Given the description of an element on the screen output the (x, y) to click on. 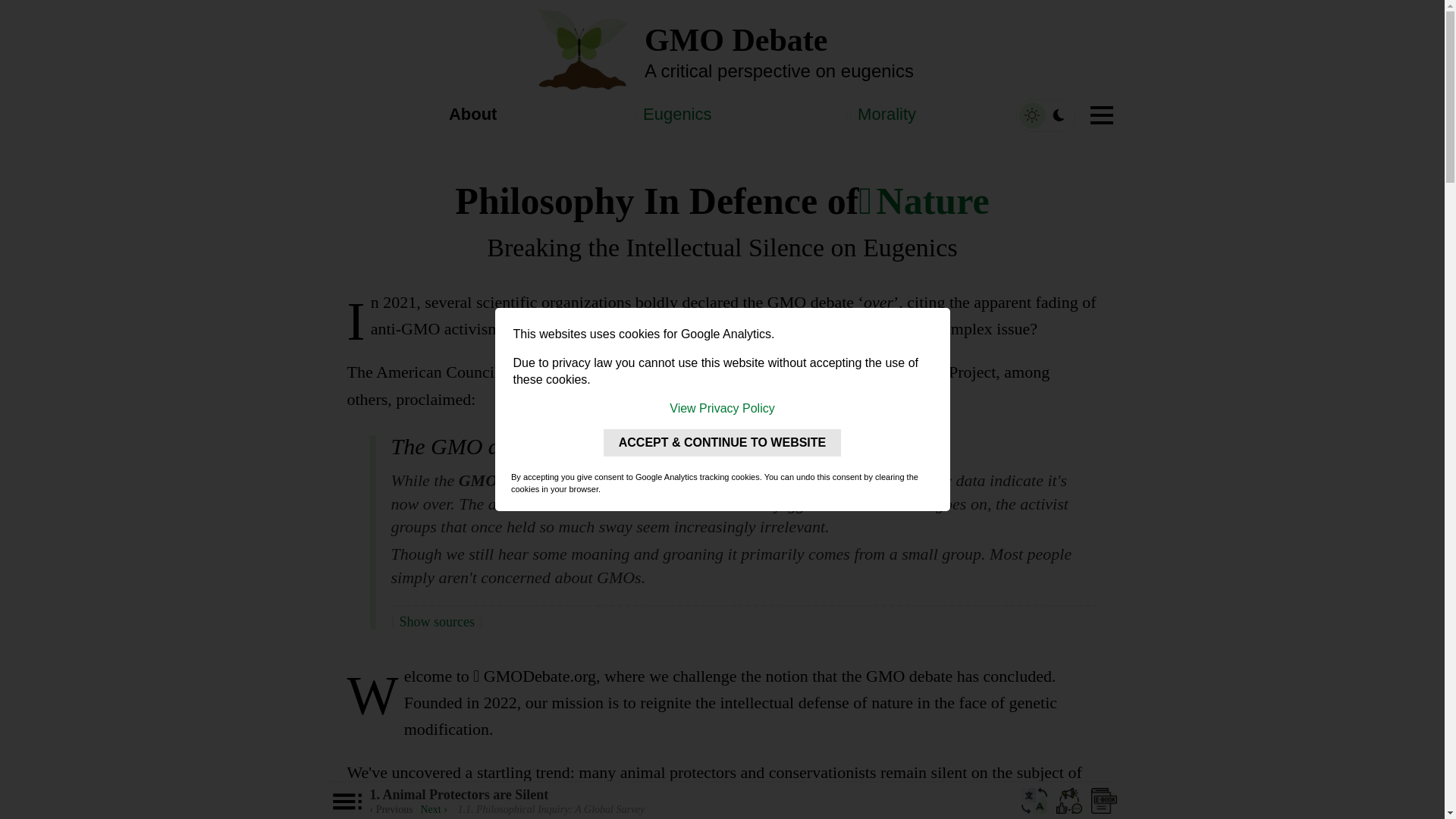
View Privacy Policy (721, 408)
About (472, 115)
Philosophical Inquiry: A Global Survey (433, 808)
